Given the description of an element on the screen output the (x, y) to click on. 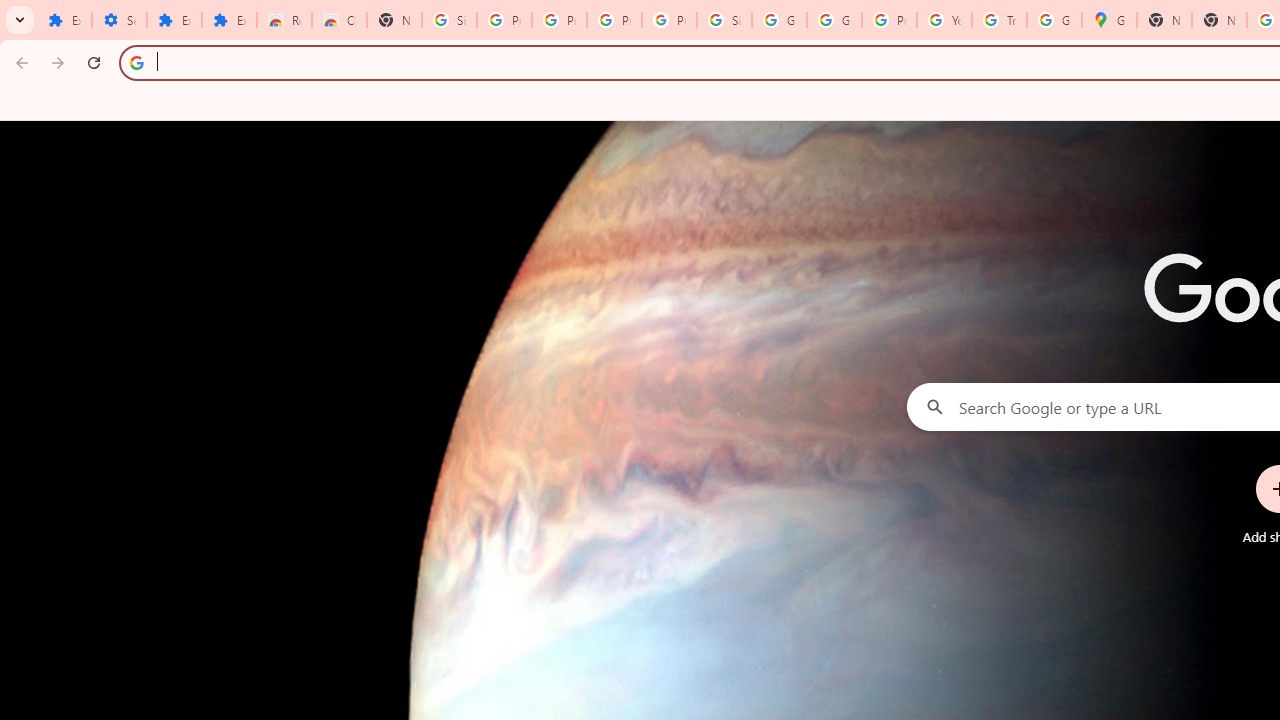
New Tab (394, 20)
New Tab (1218, 20)
Extensions (64, 20)
Google Maps (1108, 20)
Sign in - Google Accounts (449, 20)
